Given the description of an element on the screen output the (x, y) to click on. 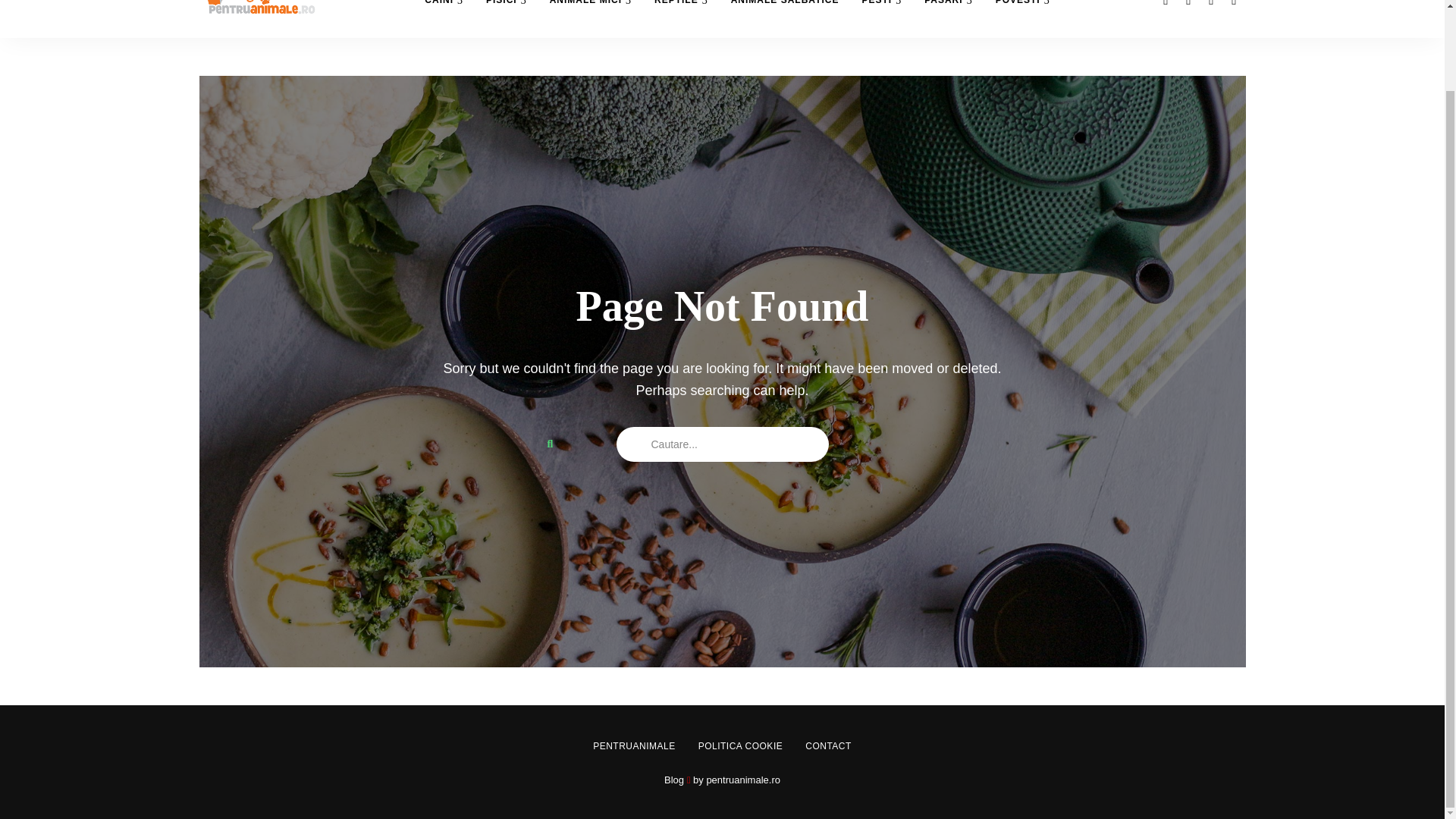
ANIMALE MICI (590, 18)
ANIMALE SALBATICE (784, 18)
PASARI (948, 18)
CAINI (443, 18)
POVESTI (1022, 18)
PISICI (506, 18)
PESTI (881, 18)
REPTILE (681, 18)
